Given the description of an element on the screen output the (x, y) to click on. 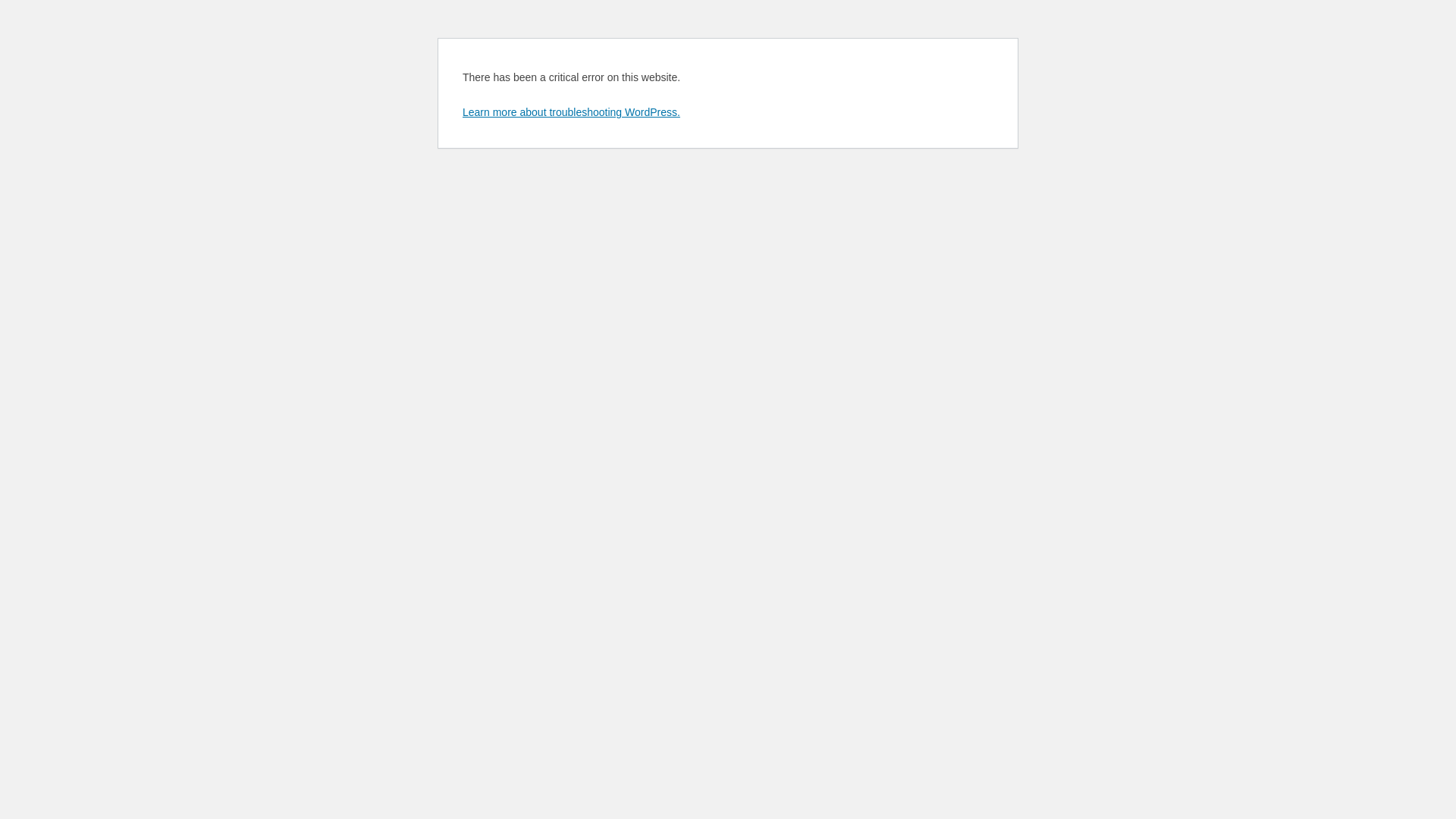
Learn more about troubleshooting WordPress. Element type: text (571, 112)
